Given the description of an element on the screen output the (x, y) to click on. 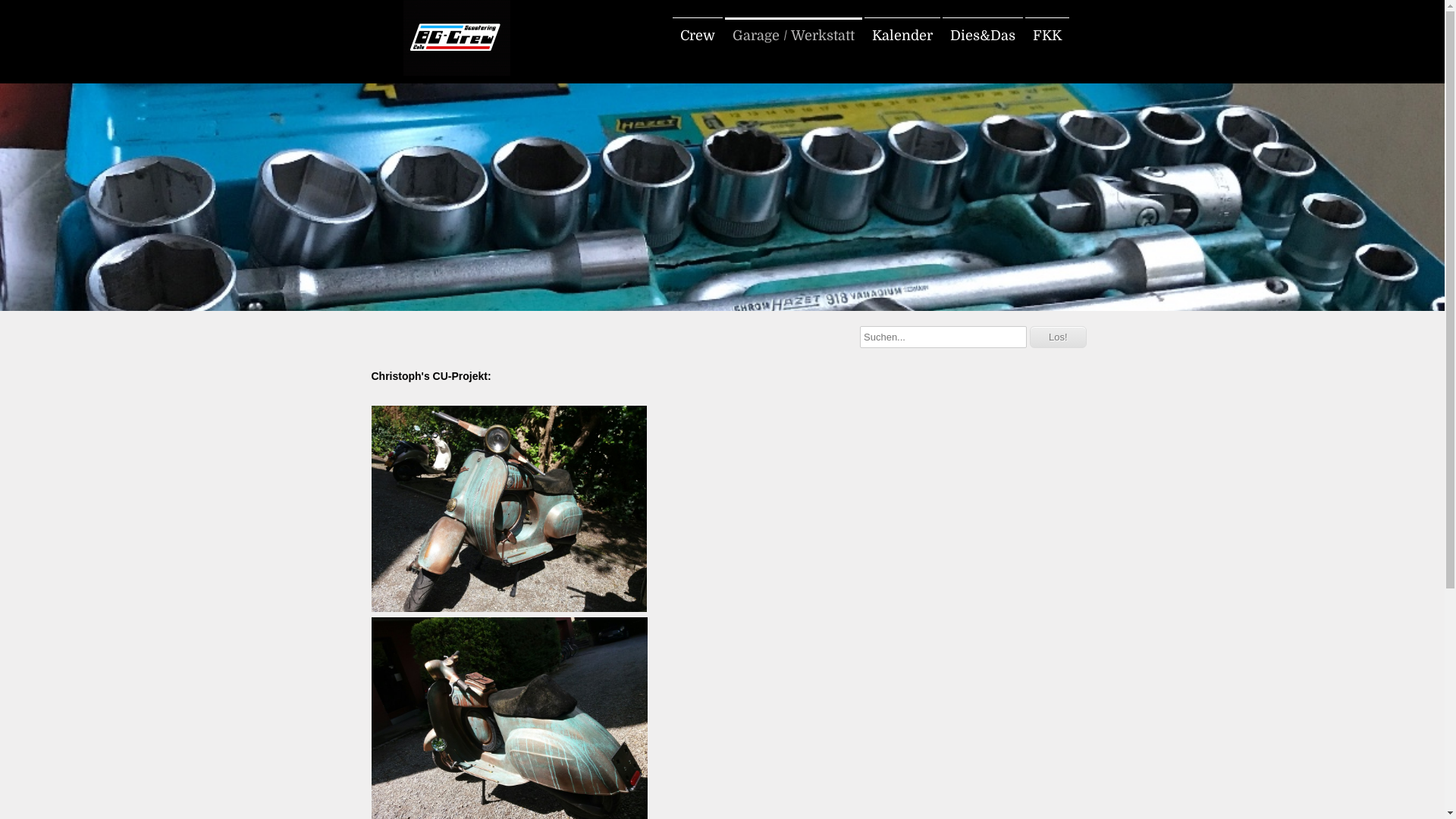
Los! Element type: text (1057, 337)
Dies&Das Element type: text (981, 35)
FKK Element type: text (1047, 35)
Crew Element type: text (696, 35)
Garage / Werkstatt Element type: text (793, 35)
Kalender Element type: text (902, 35)
